Given the description of an element on the screen output the (x, y) to click on. 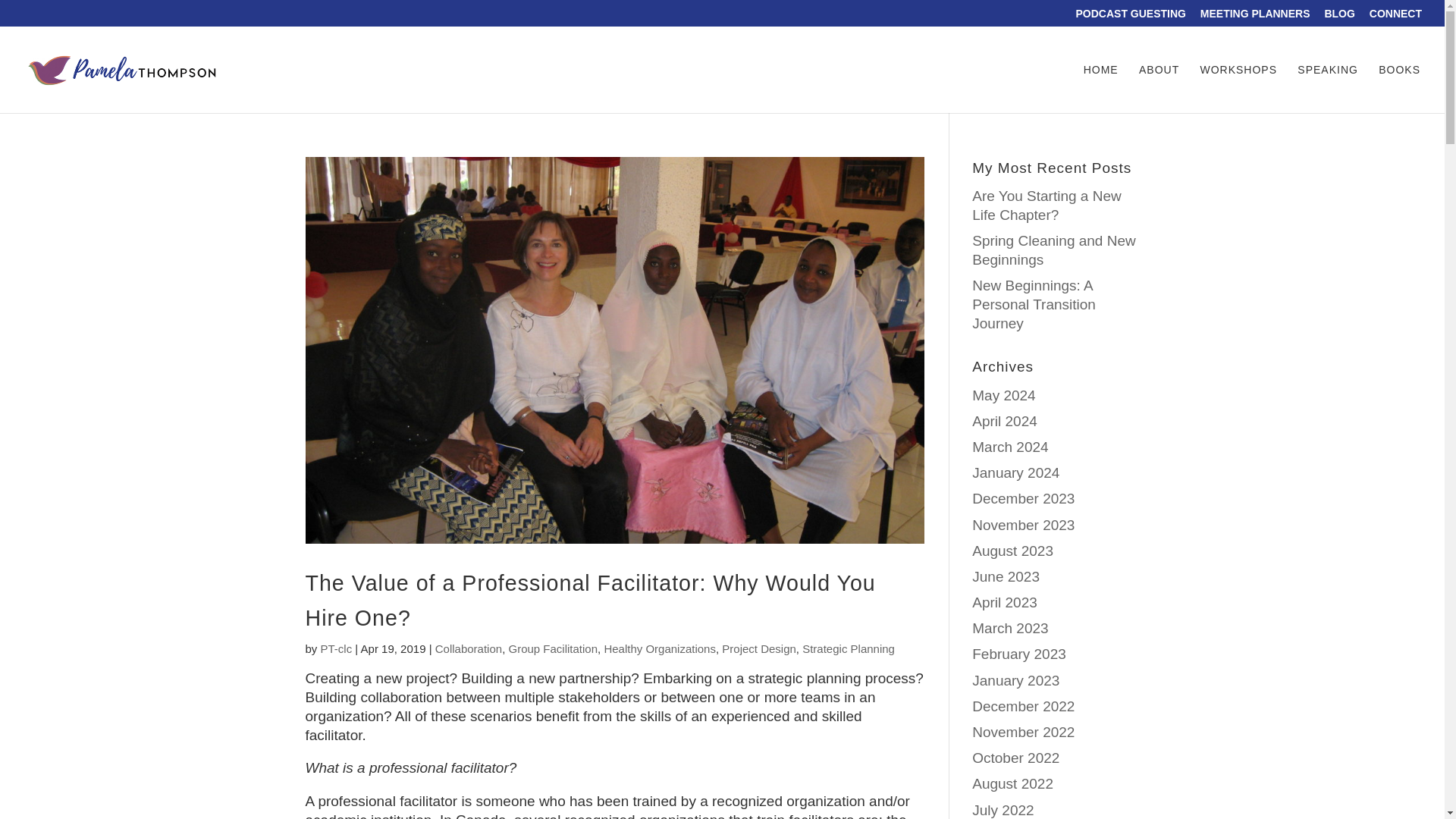
Group Facilitation (552, 648)
PODCAST GUESTING (1130, 16)
Healthy Organizations (660, 648)
MEETING PLANNERS (1254, 16)
Spring Cleaning and New Beginnings (1053, 249)
Posts by PT-clc (336, 648)
Collaboration (468, 648)
May 2024 (1003, 395)
CONNECT (1396, 16)
PT-clc (336, 648)
WORKSHOPS (1237, 88)
Project Design (759, 648)
BLOG (1338, 16)
New Beginnings: A Personal Transition Journey (1034, 303)
